Given the description of an element on the screen output the (x, y) to click on. 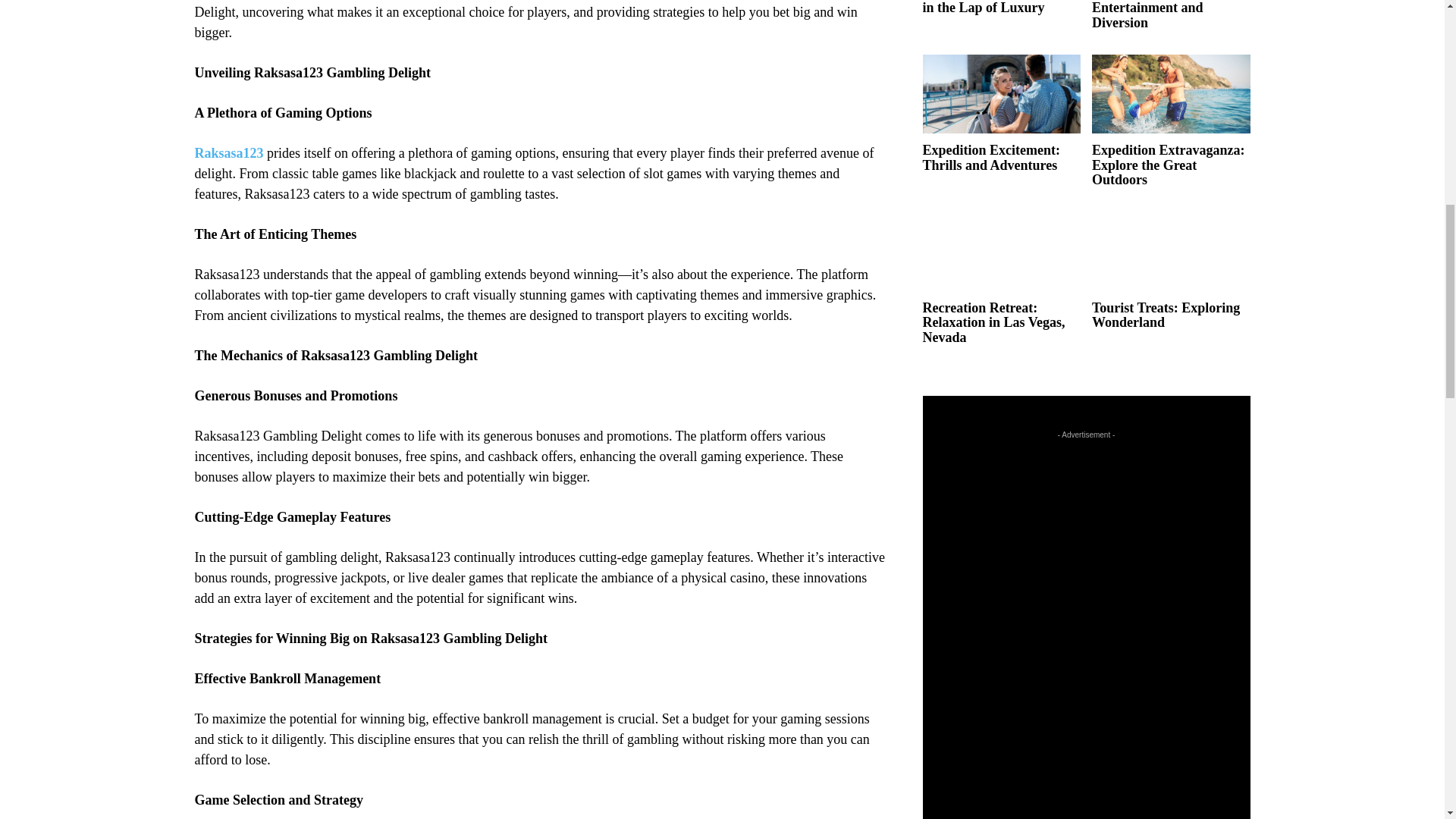
Monte Carlo Magic: Fun in the Lap of Luxury (994, 7)
Expedition Excitement: Thrills and Adventures (990, 157)
Expedition Extravaganza: Explore the Great Outdoors (1171, 93)
British Beauty: A Tour of Entertainment and Diversion (1165, 15)
Raksasa123 (228, 152)
Expedition Extravaganza: Explore the Great Outdoors (1168, 165)
Expedition Excitement: Thrills and Adventures (1000, 93)
Monte Carlo Magic: Fun in the Lap of Luxury (994, 7)
